Given the description of an element on the screen output the (x, y) to click on. 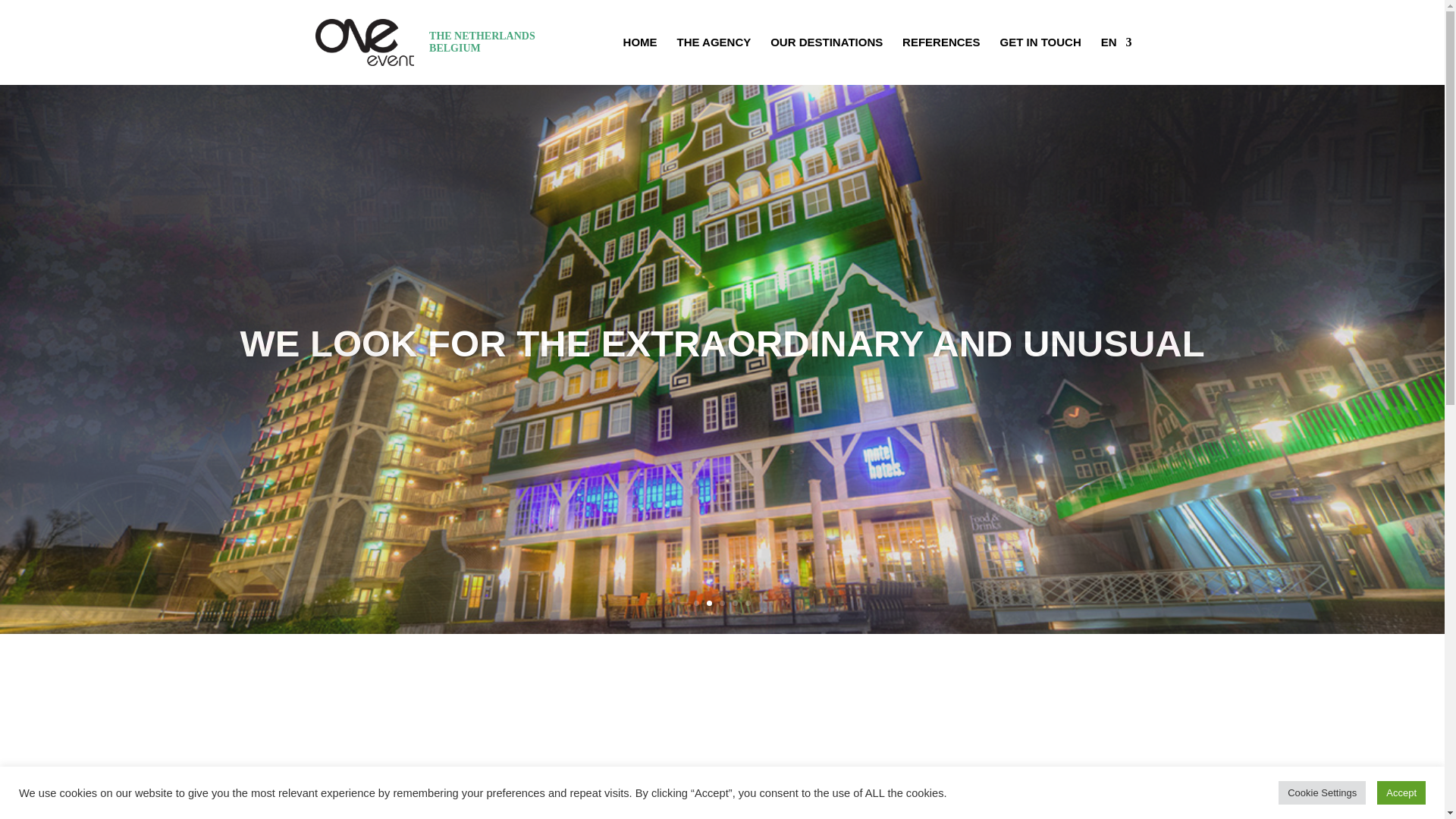
GET IN TOUCH (1040, 60)
3 (722, 603)
Accept (1401, 792)
REFERENCES (940, 60)
THE AGENCY (714, 60)
Cookie Settings (1321, 792)
4 (735, 603)
2 (708, 603)
OUR DESTINATIONS (826, 60)
5 (748, 603)
